Given the description of an element on the screen output the (x, y) to click on. 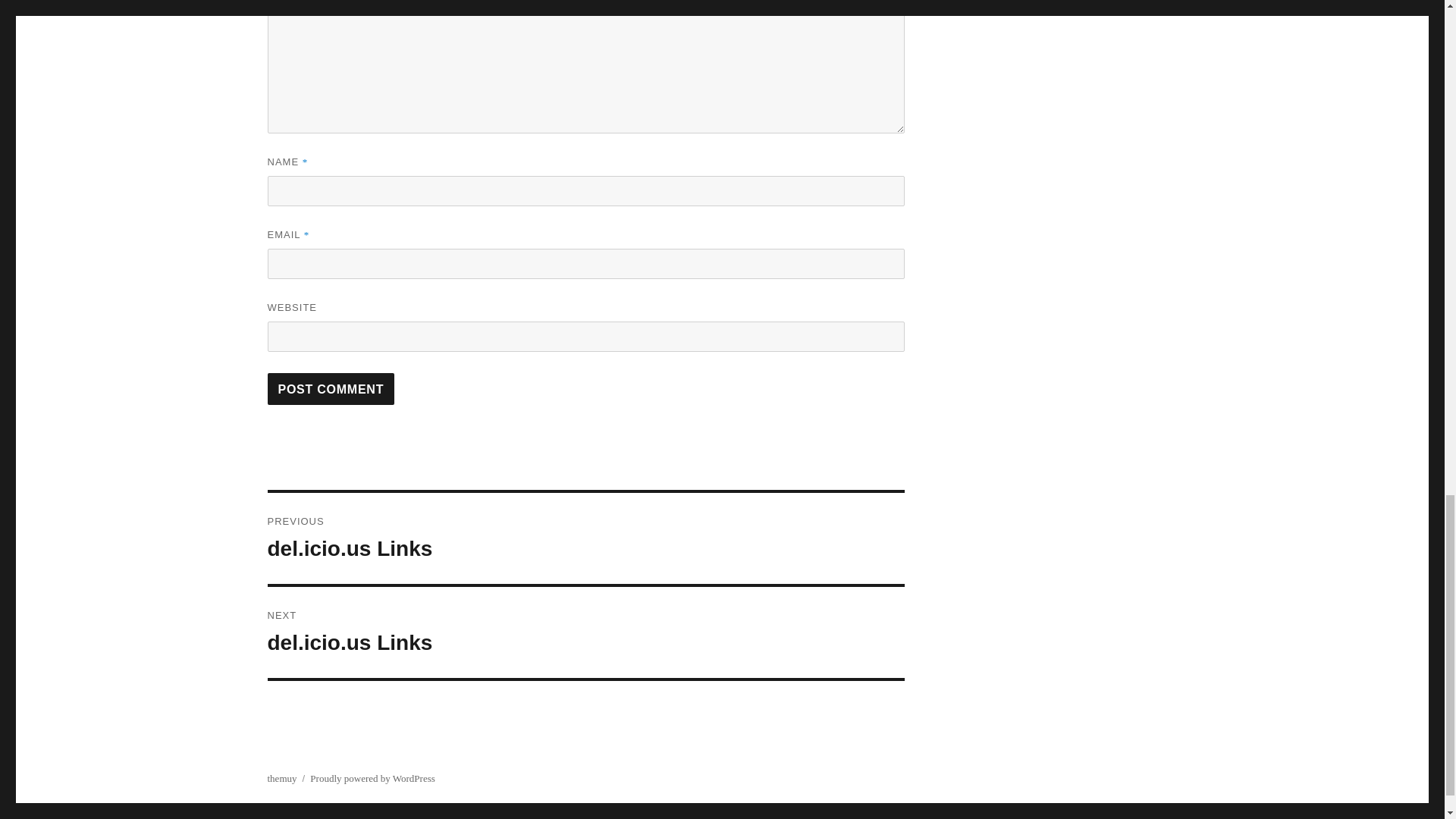
Post Comment (585, 632)
Proudly powered by WordPress (585, 538)
themuy (330, 388)
Post Comment (371, 778)
